Given the description of an element on the screen output the (x, y) to click on. 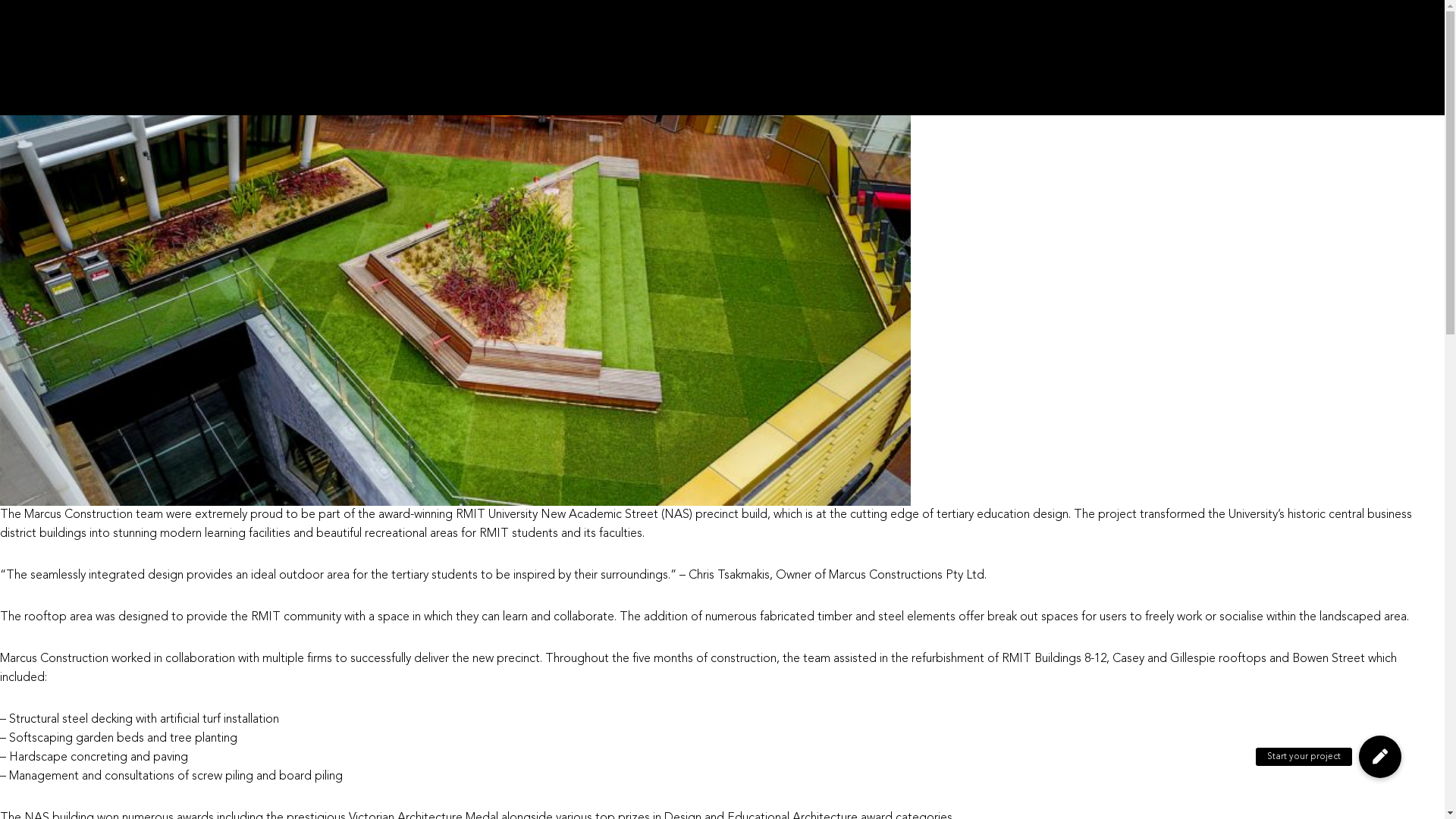
MOVEART SCULPTURES Element type: text (1078, 47)
RICHTER PLAYSCAPES Element type: text (933, 47)
Start your project Element type: text (1379, 756)
CONSTRUCTION Element type: text (1209, 47)
May 4, 2019May 20, 2019 Element type: text (42, 27)
CIVIL LANDSCAPES Element type: text (801, 47)
APPROACH Element type: text (1306, 47)
